Given the description of an element on the screen output the (x, y) to click on. 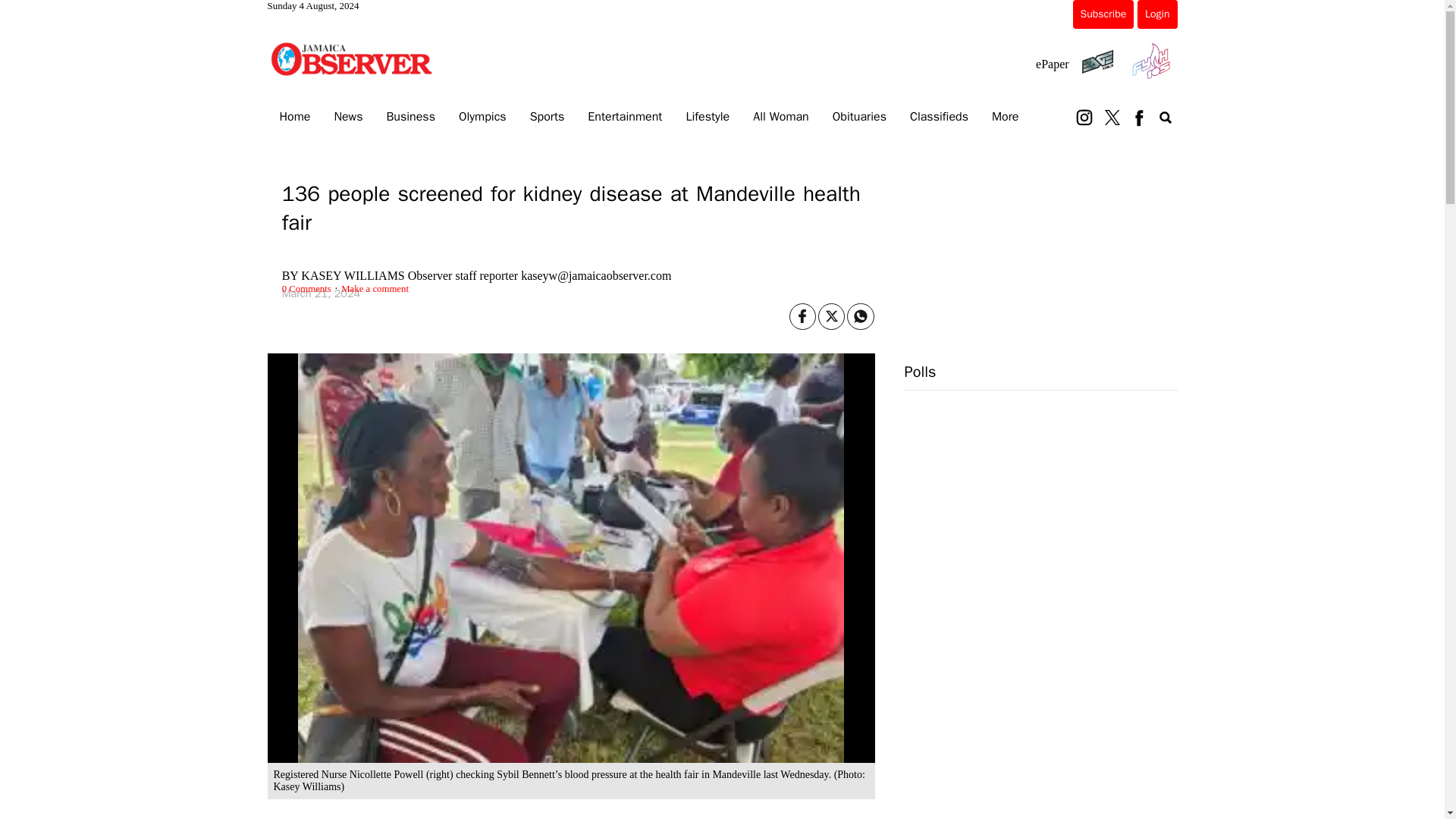
ePaper (1051, 64)
Subscribe (1103, 14)
Login (1156, 14)
